Given the description of an element on the screen output the (x, y) to click on. 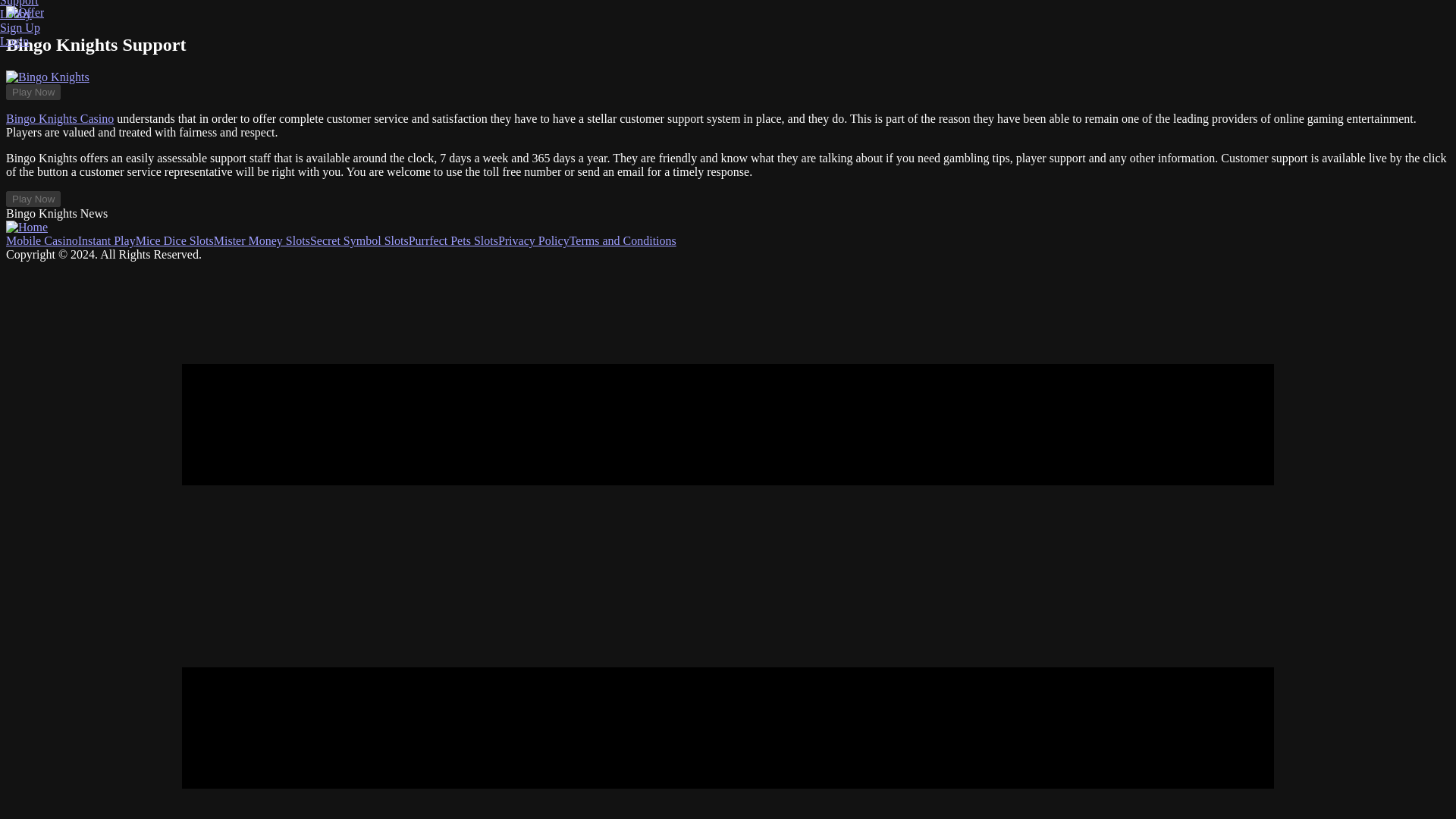
Mobile Casino (41, 240)
Instant Play (106, 240)
Secret Symbol Slots (359, 240)
Mister Money Slots (262, 240)
Mice Dice Slots (174, 240)
Privacy Policy (533, 240)
Bingo Knights Casino (59, 118)
Purrfect Pets Slots (453, 240)
Play Now (33, 91)
Play Now (33, 198)
Terms and Conditions (623, 240)
